Given the description of an element on the screen output the (x, y) to click on. 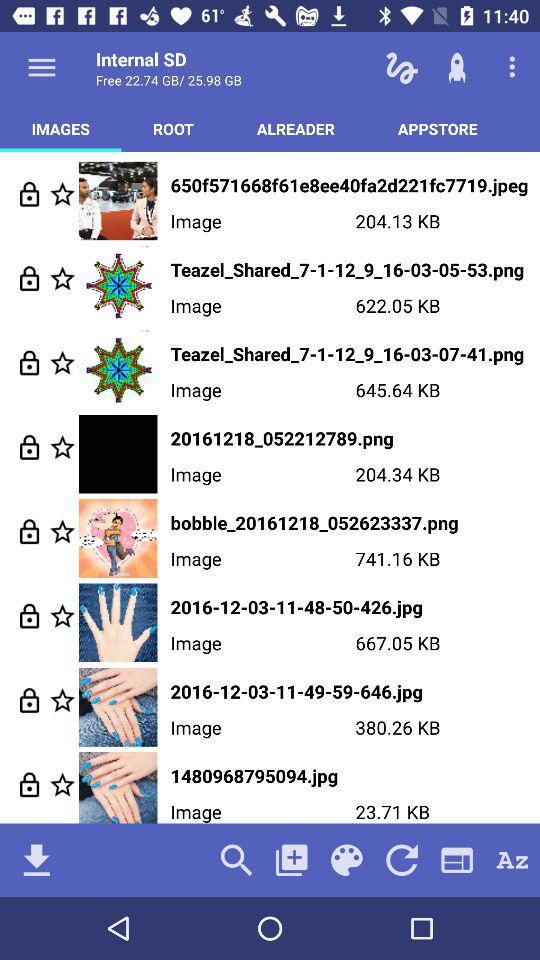
favorite image (62, 531)
